Given the description of an element on the screen output the (x, y) to click on. 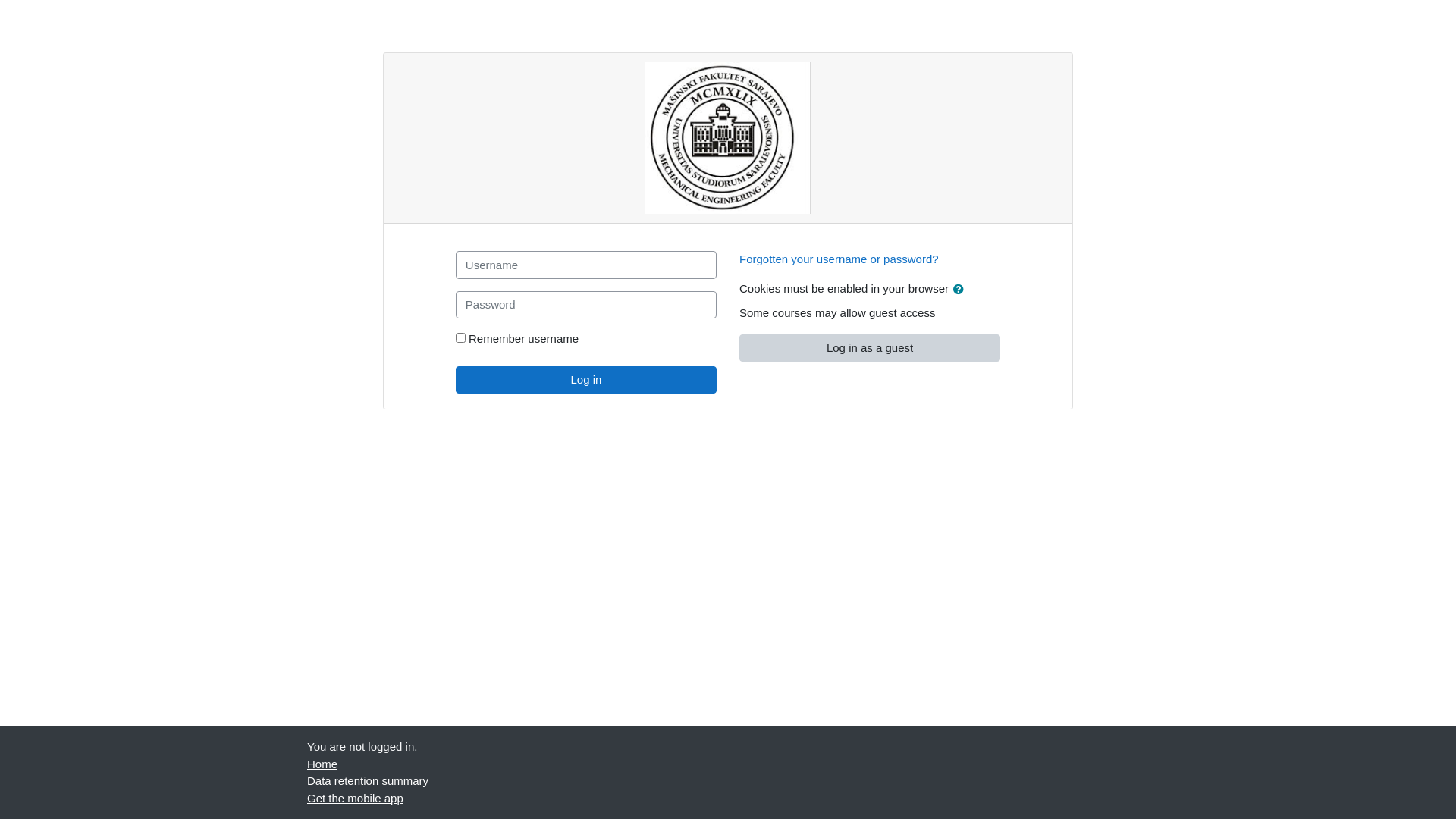
Help with Cookies must be enabled in your browser Element type: hover (958, 288)
Data retention summary Element type: text (367, 780)
Log in Element type: text (585, 379)
Log in as a guest Element type: text (869, 347)
Home Element type: text (322, 762)
Forgotten your username or password? Element type: text (838, 258)
Get the mobile app Element type: text (355, 797)
